Given the description of an element on the screen output the (x, y) to click on. 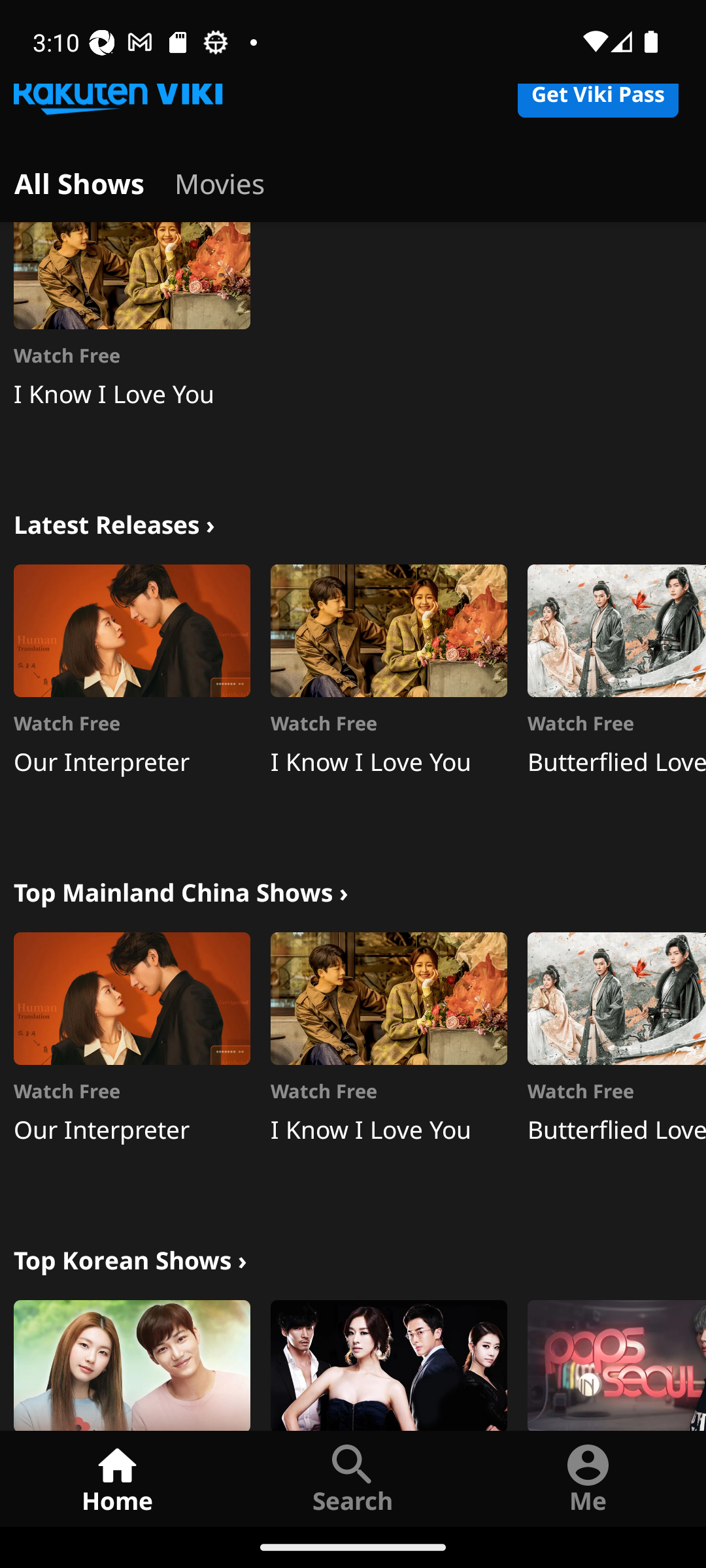
Get Viki Pass (597, 100)
home_tab_movies Movies (219, 180)
Latest Releases › all_new (114, 522)
Top Mainland China Shows › china_trending (180, 889)
Top Korean Shows › korean_trending (130, 1258)
resource_cell home_resource_38462c (131, 1364)
resource_cell home_resource_5302c (388, 1364)
resource_cell home_resource_24570c (616, 1364)
Search (352, 1478)
Me (588, 1478)
